Given the description of an element on the screen output the (x, y) to click on. 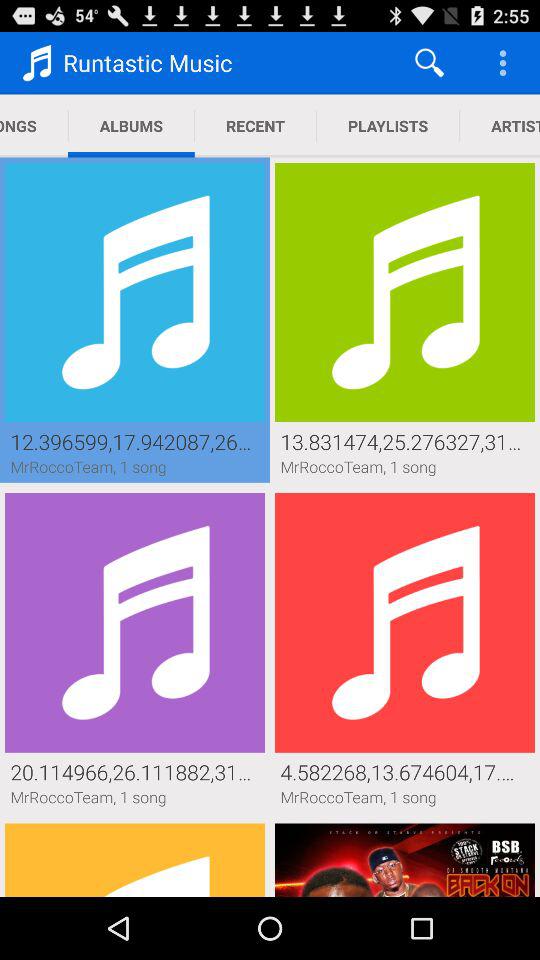
turn off the item to the left of playlists item (255, 125)
